Given the description of an element on the screen output the (x, y) to click on. 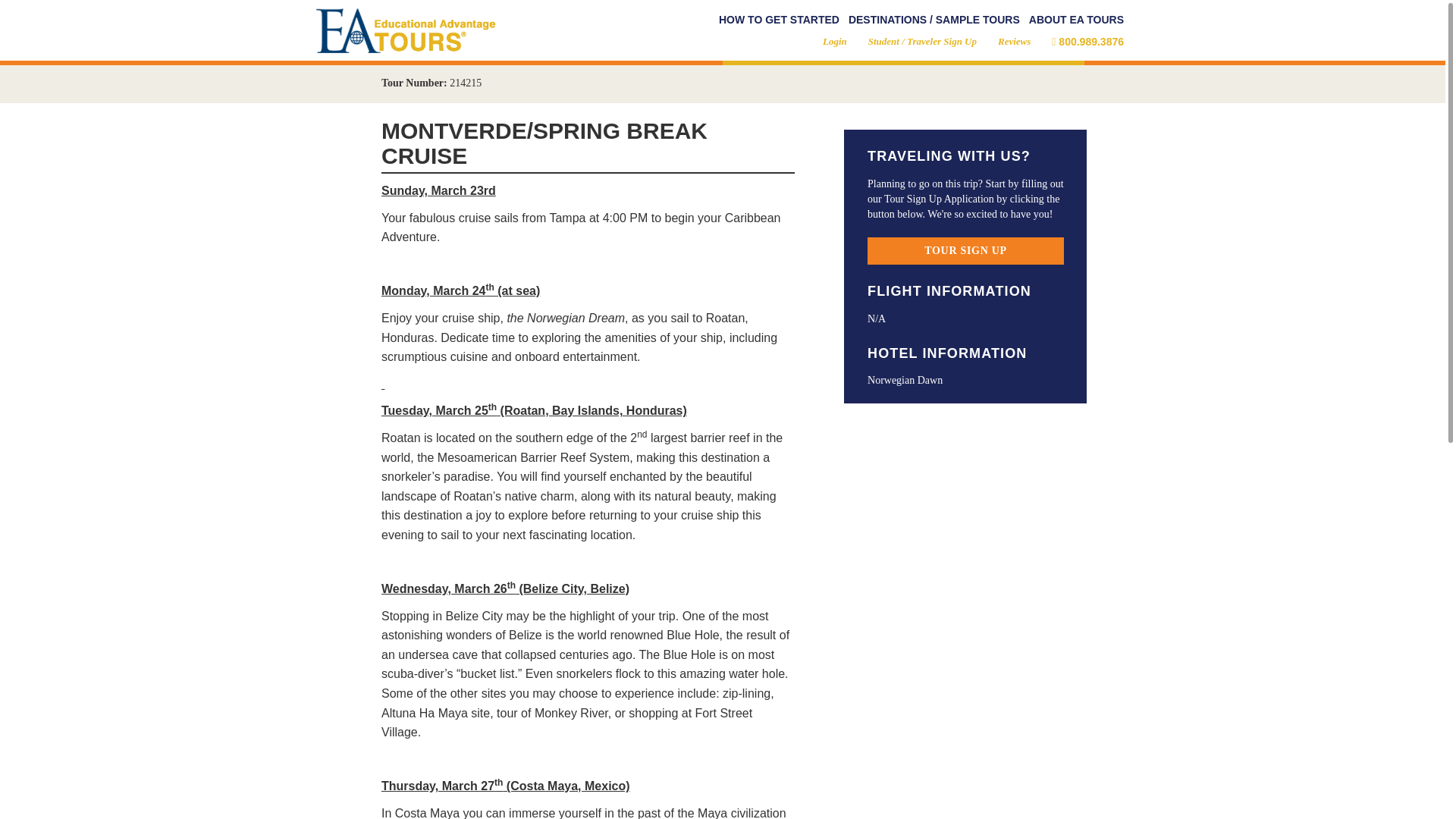
HOW TO GET STARTED (779, 19)
Reviews (1013, 41)
Login (834, 41)
800.989.3876 (1087, 41)
Get Started (779, 19)
ABOUT EA TOURS (1076, 19)
About EA Tours (1076, 19)
Destinations (934, 19)
